Given the description of an element on the screen output the (x, y) to click on. 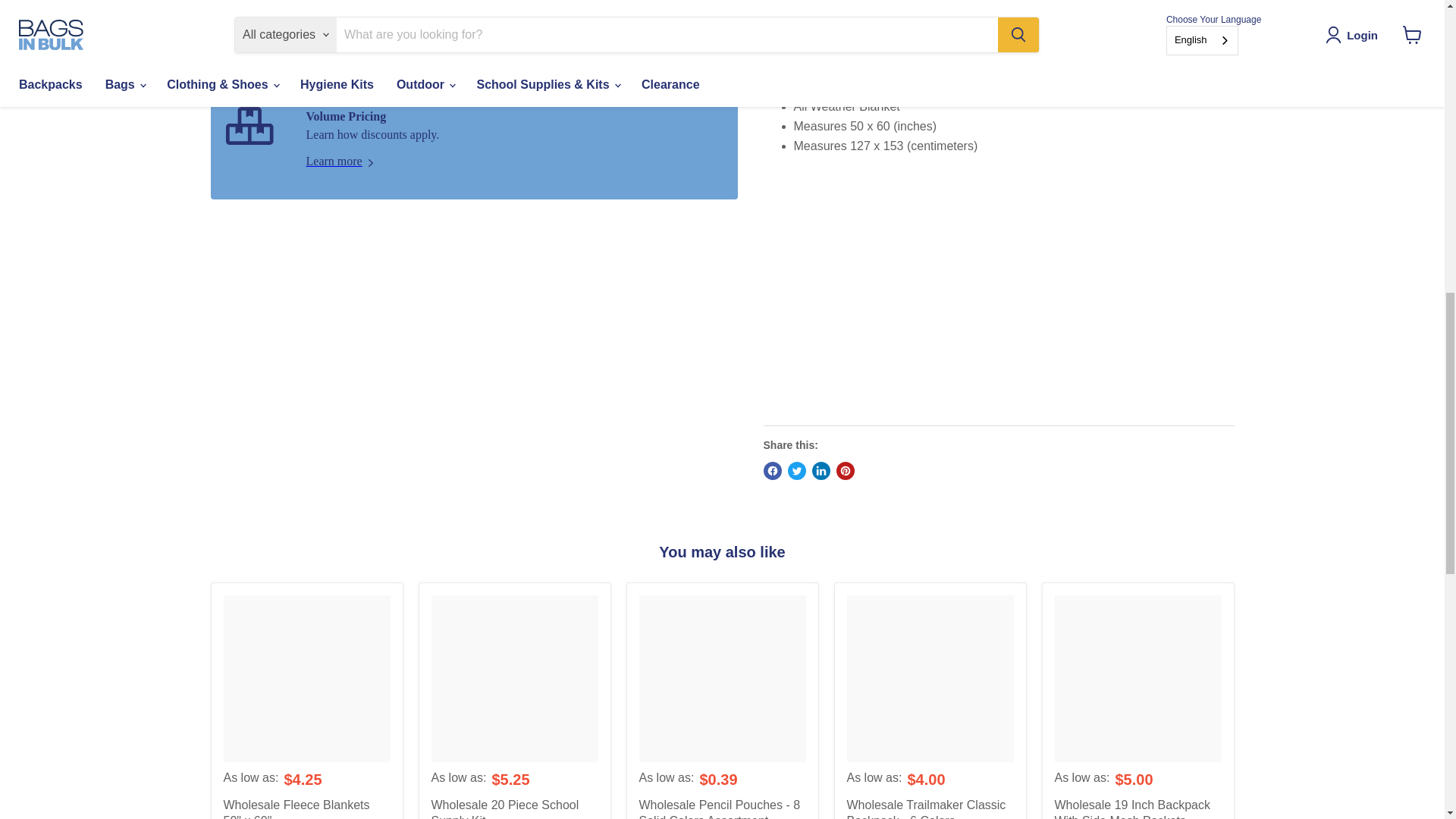
YouTube video player (997, 287)
